Given the description of an element on the screen output the (x, y) to click on. 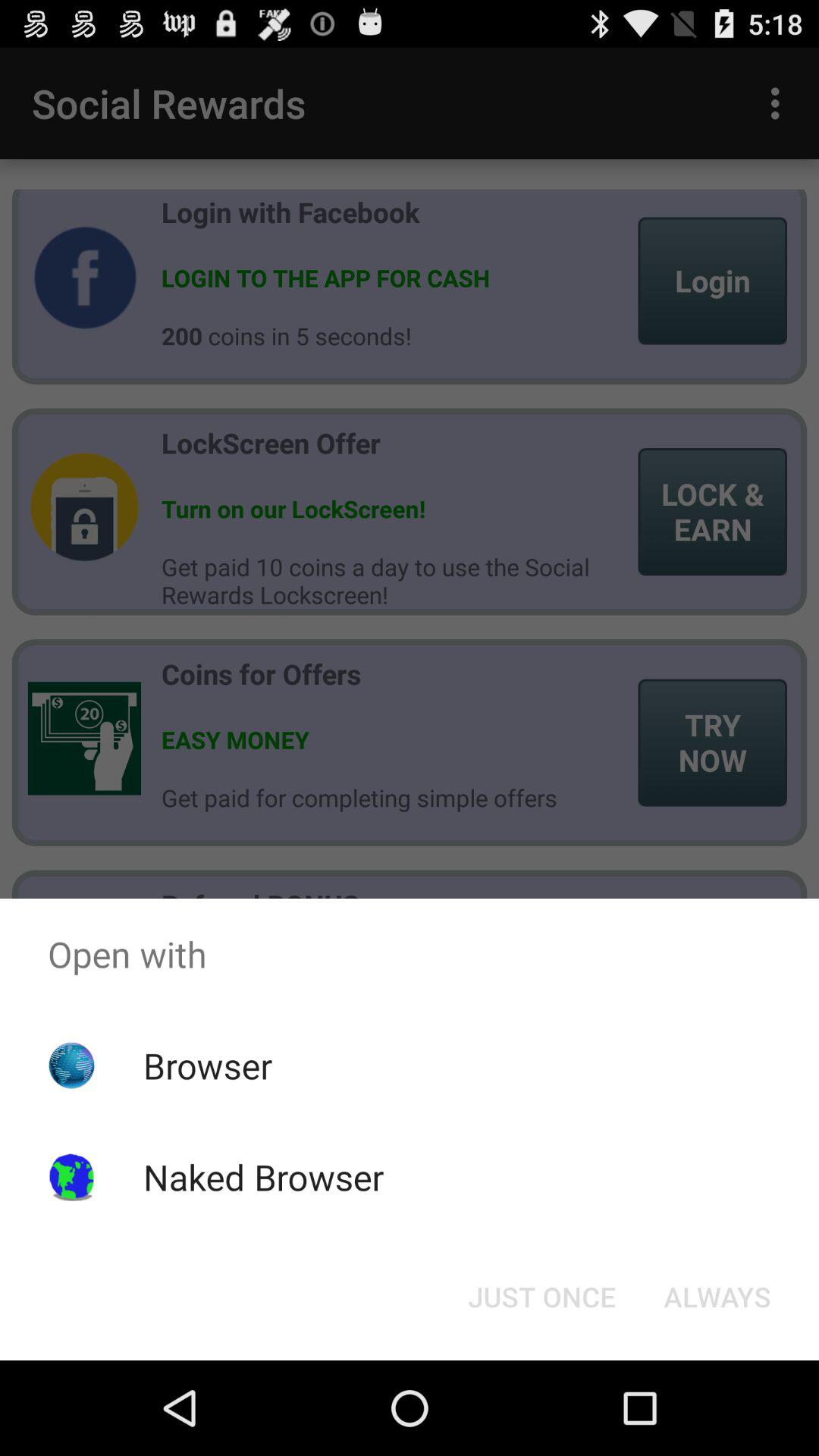
choose the icon to the left of always item (541, 1296)
